Given the description of an element on the screen output the (x, y) to click on. 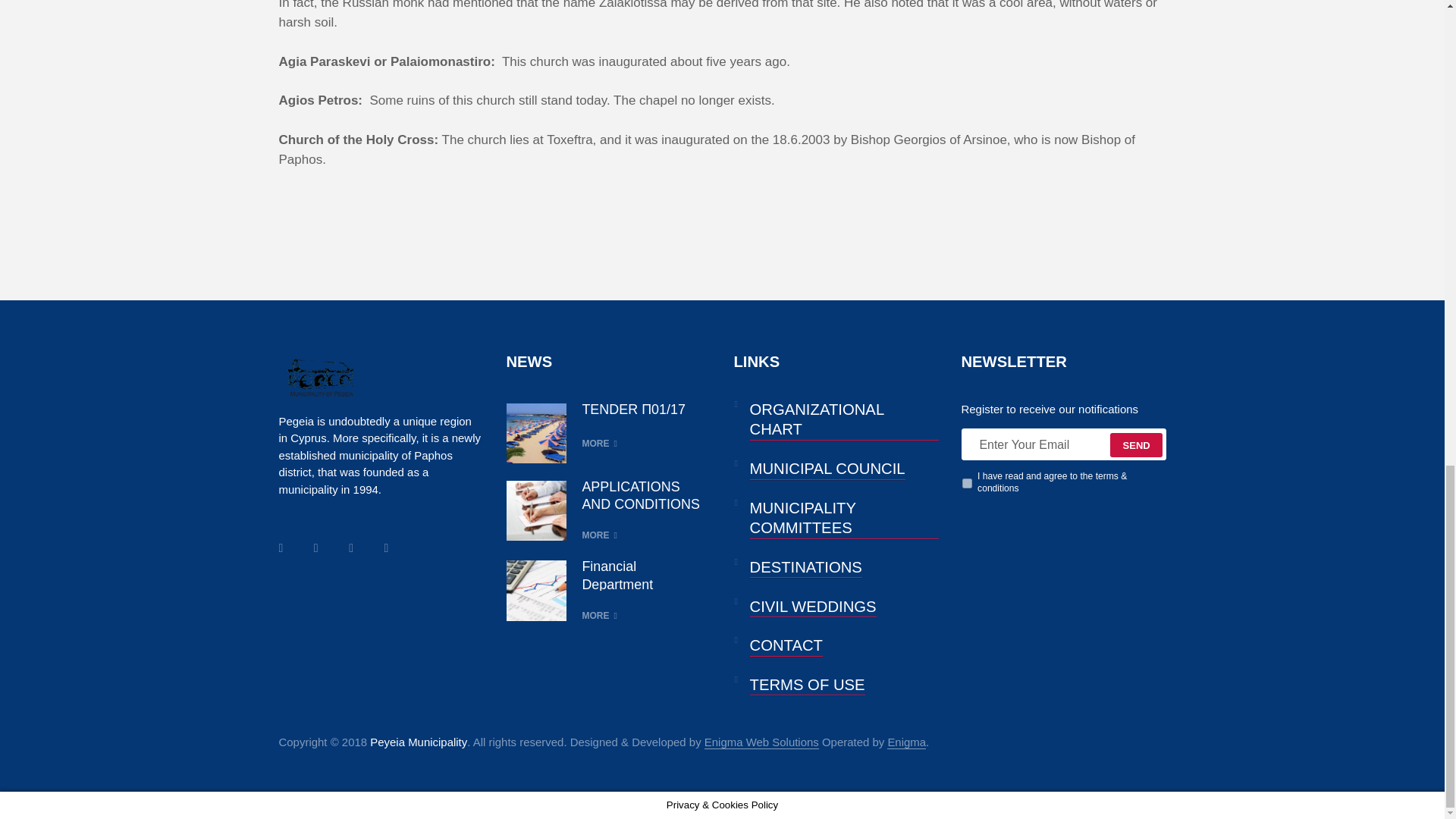
1 (965, 483)
Submit (1135, 445)
